Given the description of an element on the screen output the (x, y) to click on. 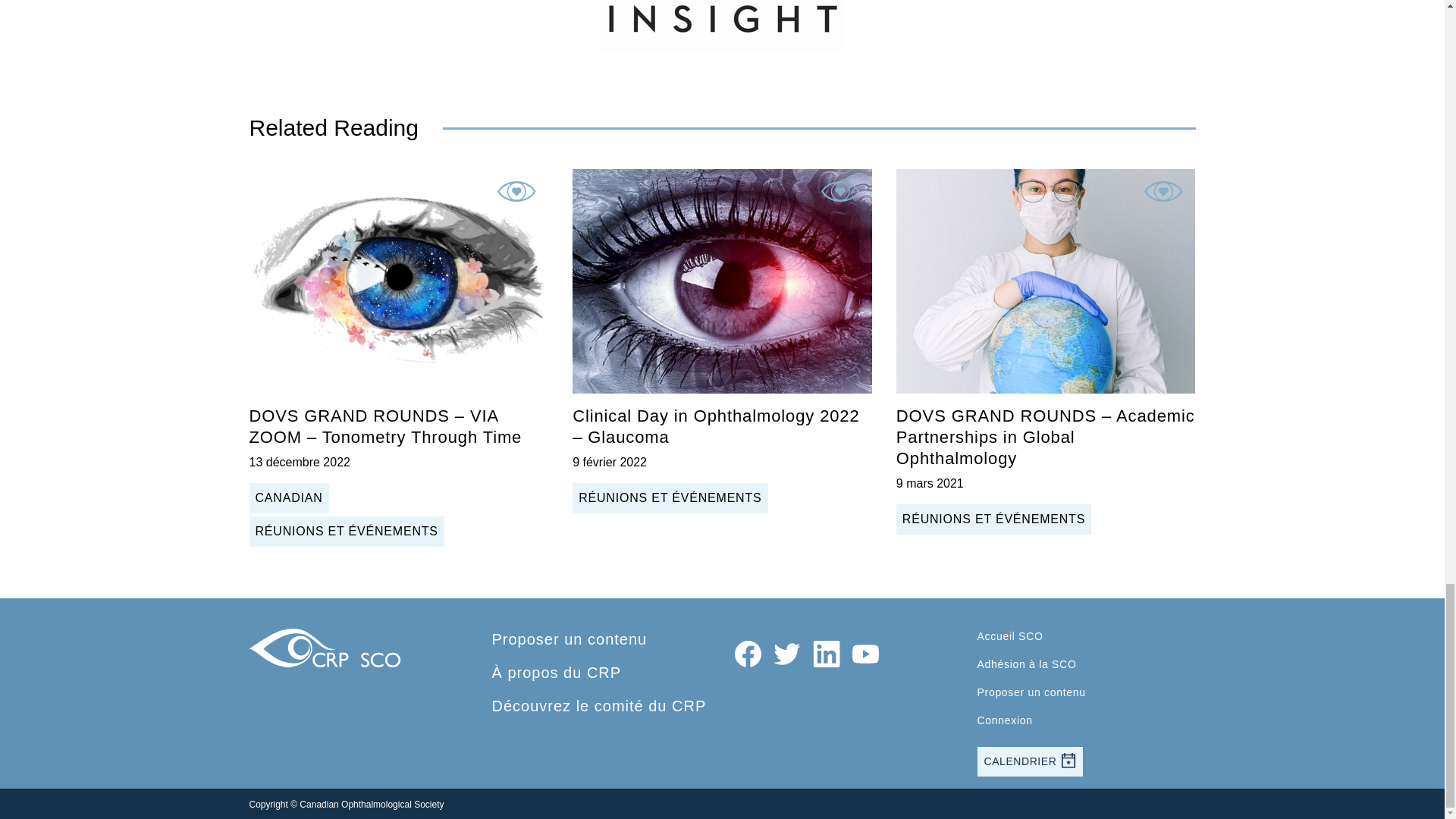
CANADIAN (288, 498)
